Given the description of an element on the screen output the (x, y) to click on. 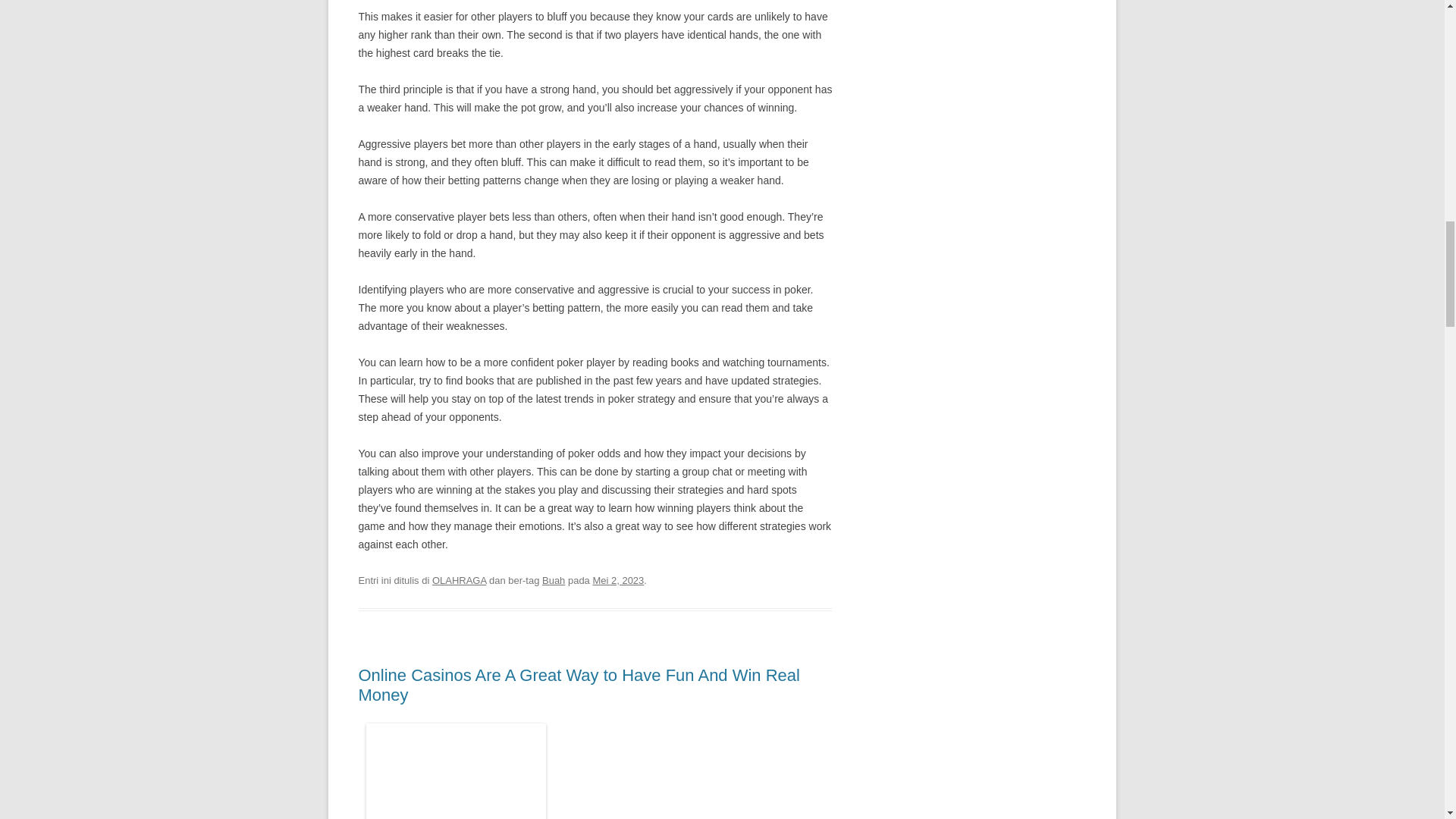
Buah (552, 580)
Mei 2, 2023 (617, 580)
3:08 pm (617, 580)
OLAHRAGA (459, 580)
